Given the description of an element on the screen output the (x, y) to click on. 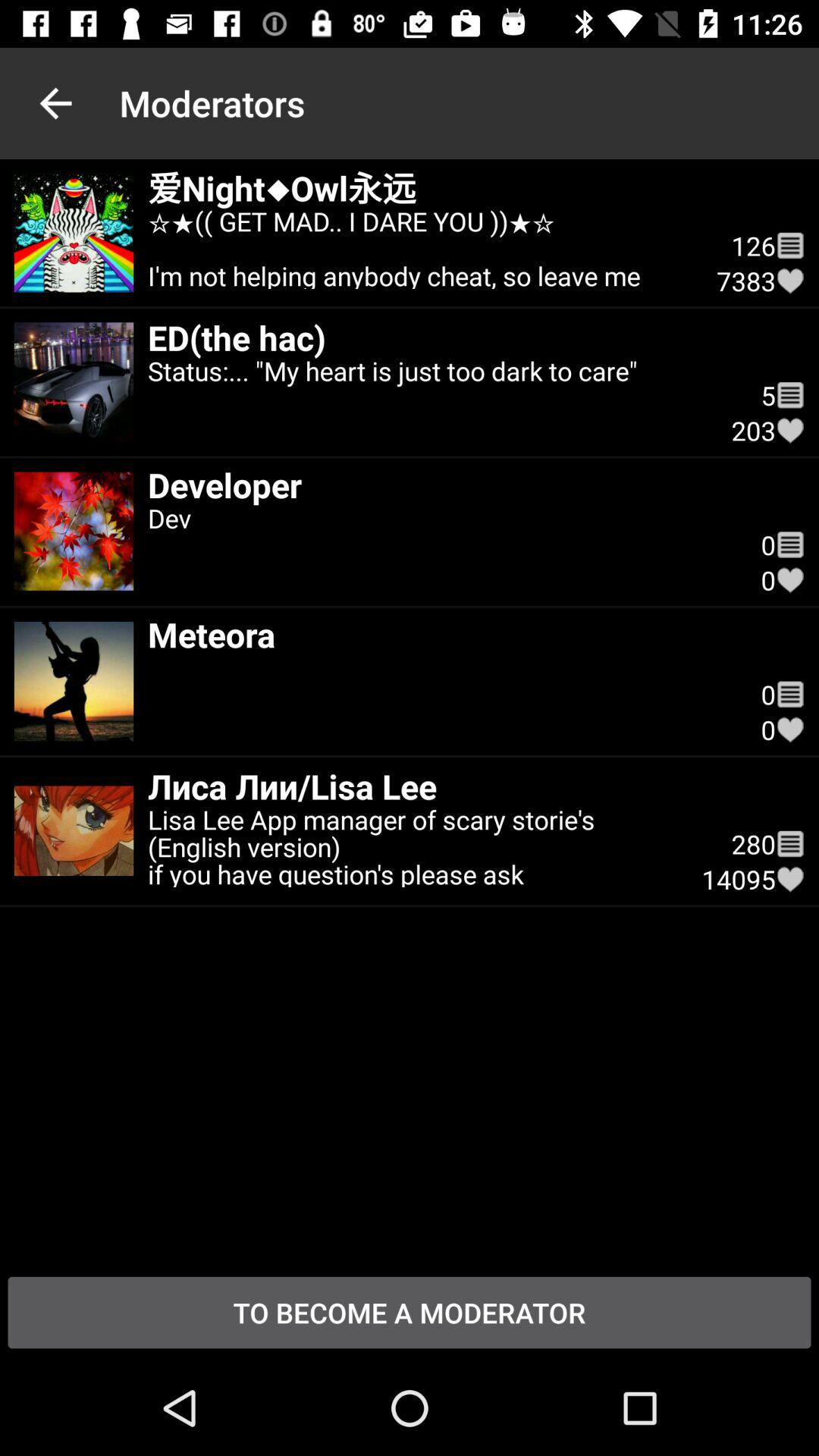
open item next to lisa lee app (753, 843)
